Given the description of an element on the screen output the (x, y) to click on. 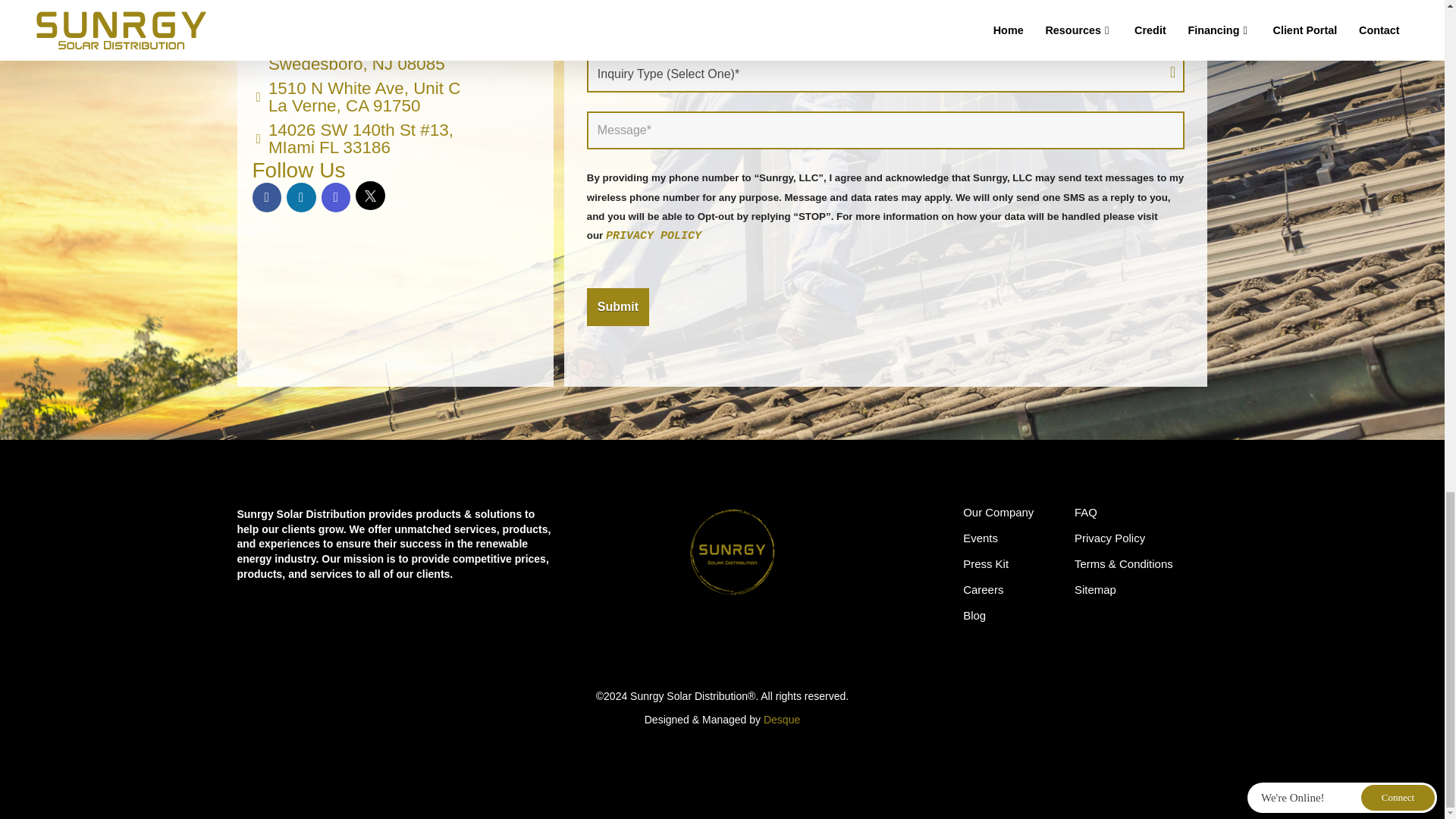
Submit (617, 306)
Events (357, 96)
FAQ (980, 545)
Blog (1085, 519)
Submit (974, 623)
PRIVACY POLICY (617, 306)
Our Company (653, 236)
Careers (362, 56)
Sitemap (998, 519)
Privacy Policy (983, 597)
Press Kit (1094, 597)
